Given the description of an element on the screen output the (x, y) to click on. 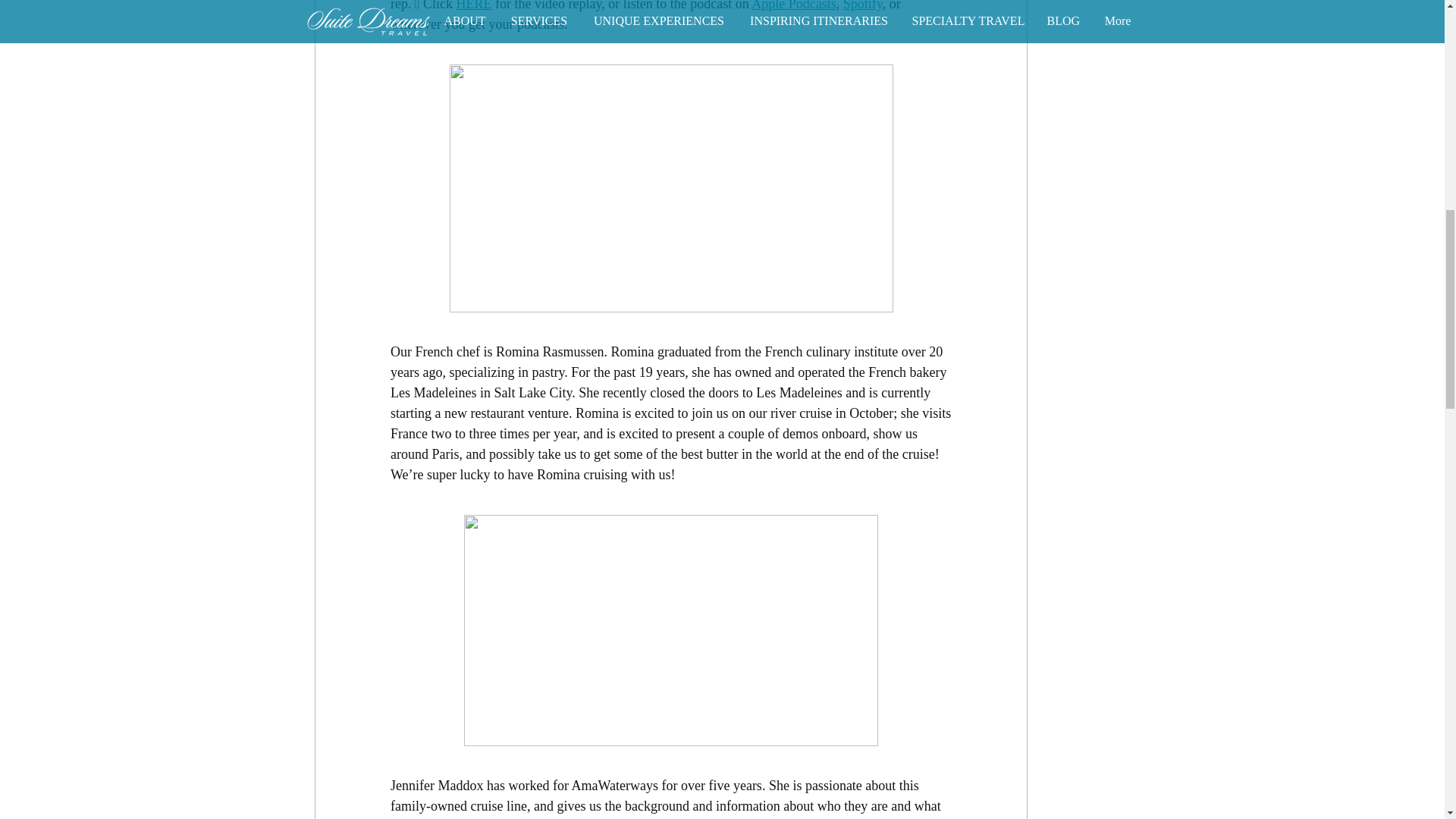
Spotify (862, 5)
Apple Podcasts (793, 5)
HERE (473, 5)
